Given the description of an element on the screen output the (x, y) to click on. 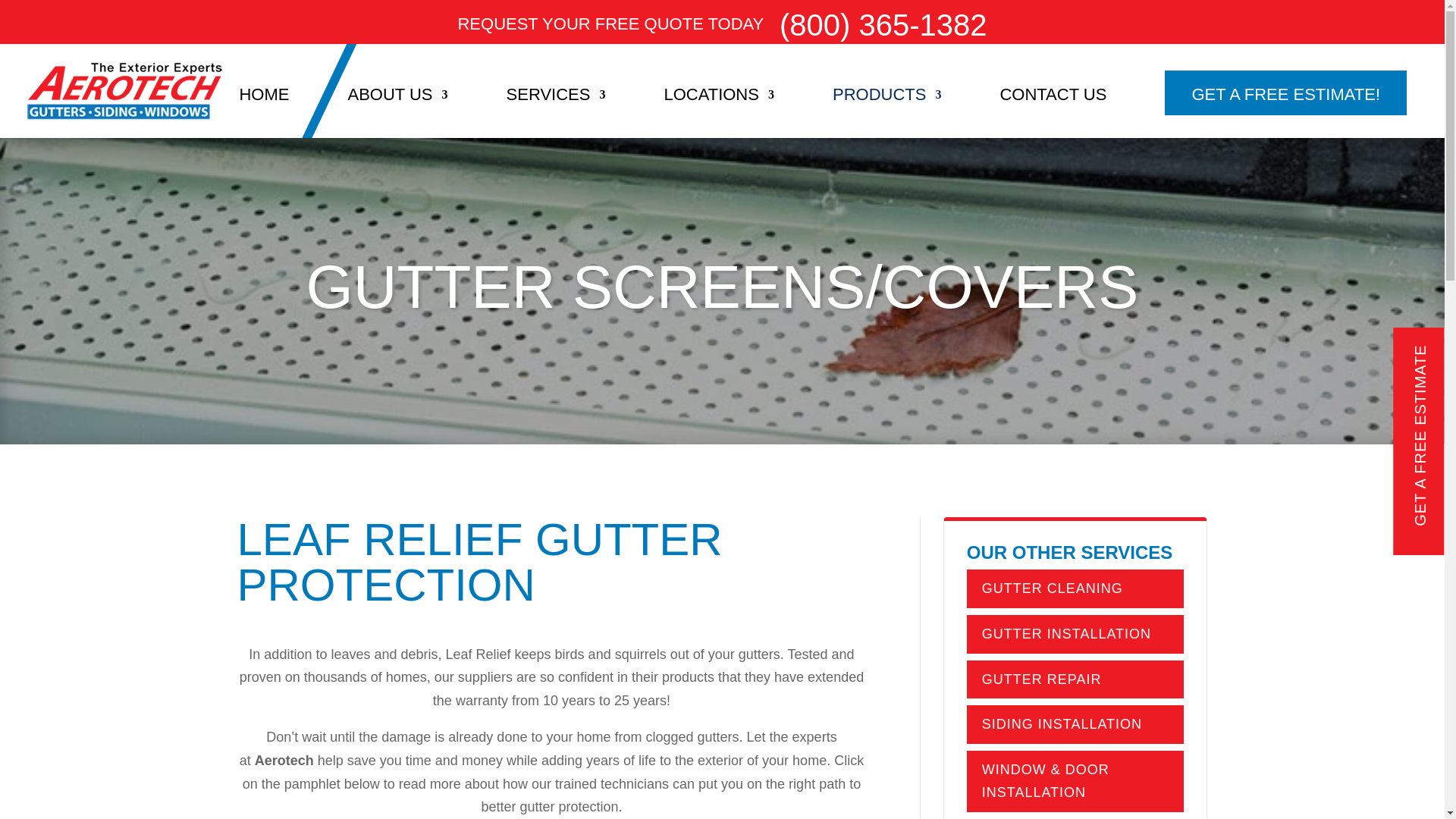
SERVICES (555, 113)
PRODUCTS (886, 113)
HOME (263, 113)
CONTACT US (1052, 113)
GUTTER INSTALLATION (1066, 633)
GUTTER CLEANING (1051, 588)
GET A FREE ESTIMATE! (1285, 92)
GUTTER REPAIR (1041, 679)
ABOUT US (396, 113)
LOCATIONS (718, 113)
